Given the description of an element on the screen output the (x, y) to click on. 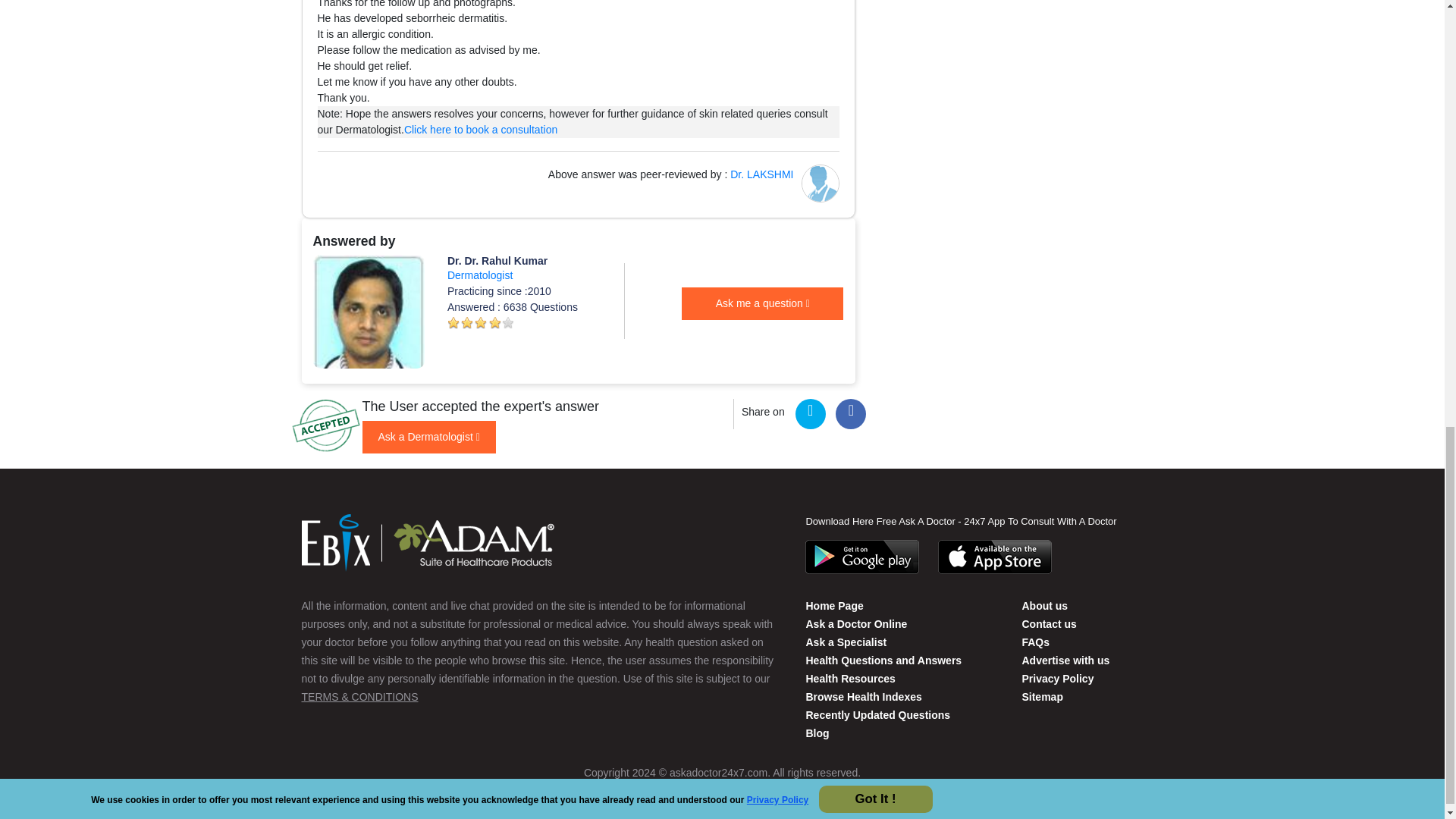
Health Blog (816, 733)
Advertise with us (1065, 660)
Contact us (1048, 623)
Privacy Policy (1057, 678)
Sitemap (1042, 696)
Health Resources (850, 678)
Recently Updated Questions (877, 715)
Ask a Doctor Online (856, 623)
Home Page (834, 605)
FAQs (1035, 642)
Ask a Specialist (845, 642)
Health Questions and Answers (882, 660)
Browse Health Indexes (863, 696)
Contact us (1044, 605)
